Given the description of an element on the screen output the (x, y) to click on. 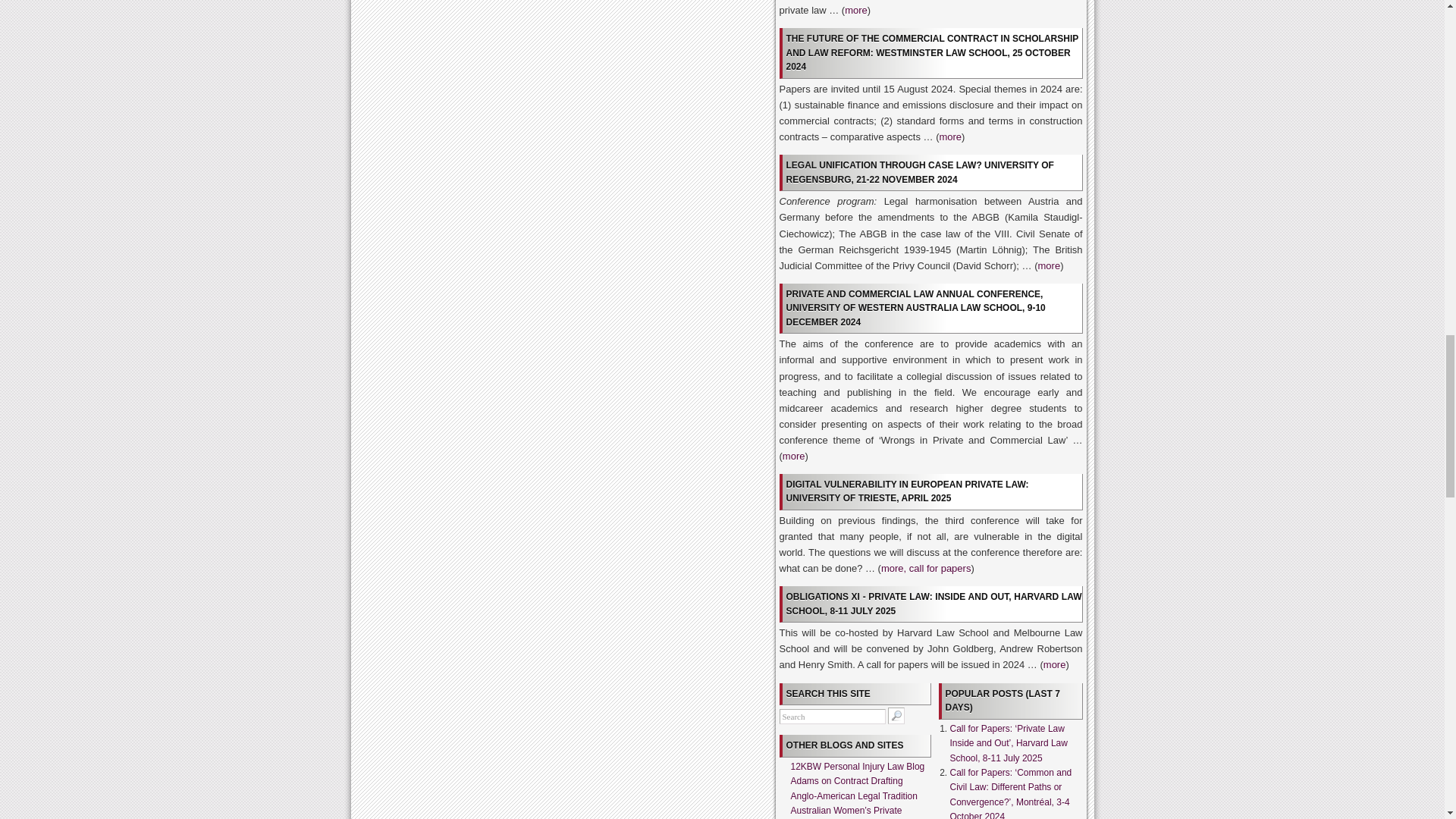
Search (831, 716)
